Given the description of an element on the screen output the (x, y) to click on. 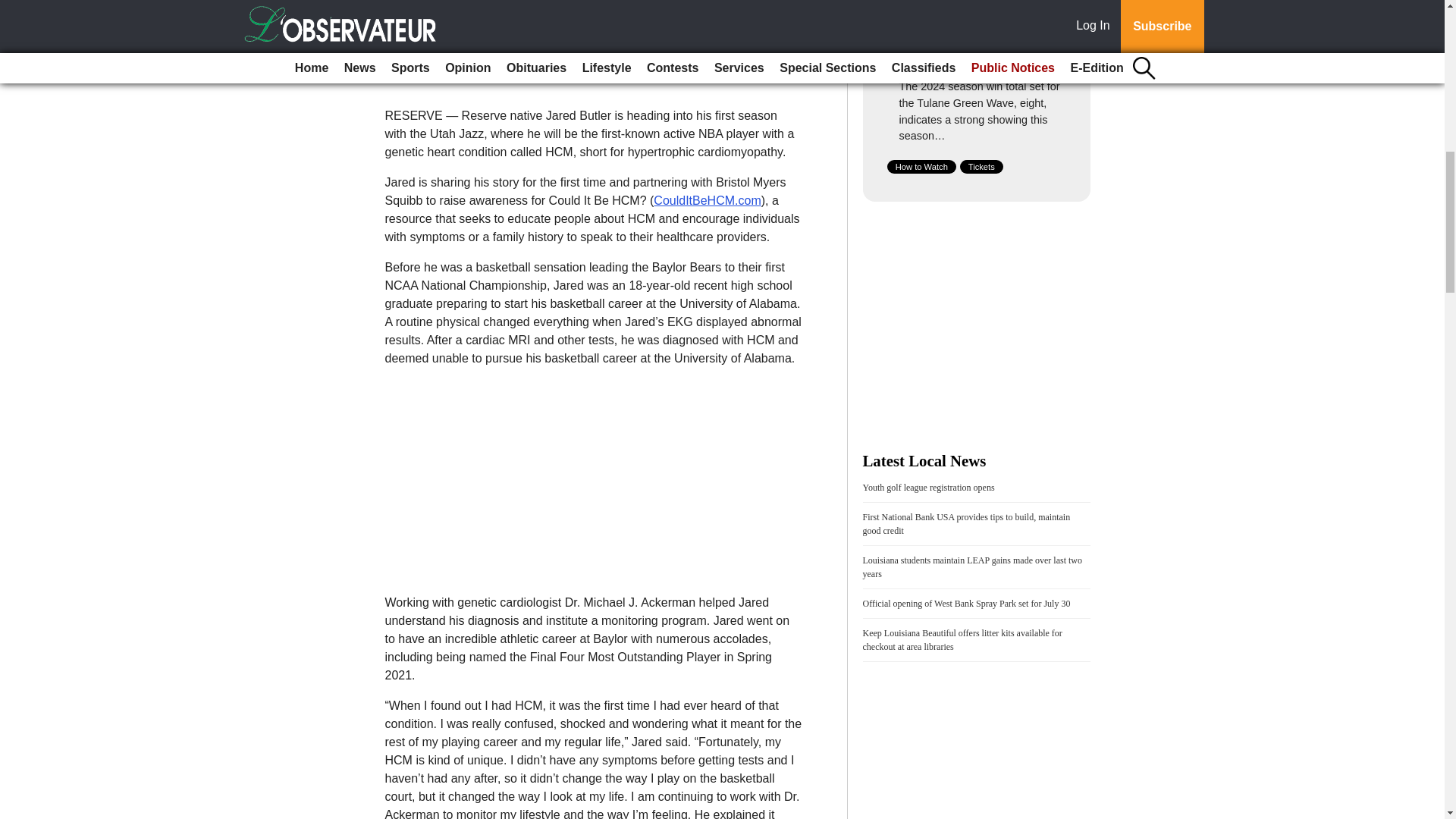
Youth golf league registration opens (928, 487)
Trinity Audio (497, 41)
Tickets (981, 166)
CouldItBeHCM.com (706, 200)
How to Watch (921, 166)
